Given the description of an element on the screen output the (x, y) to click on. 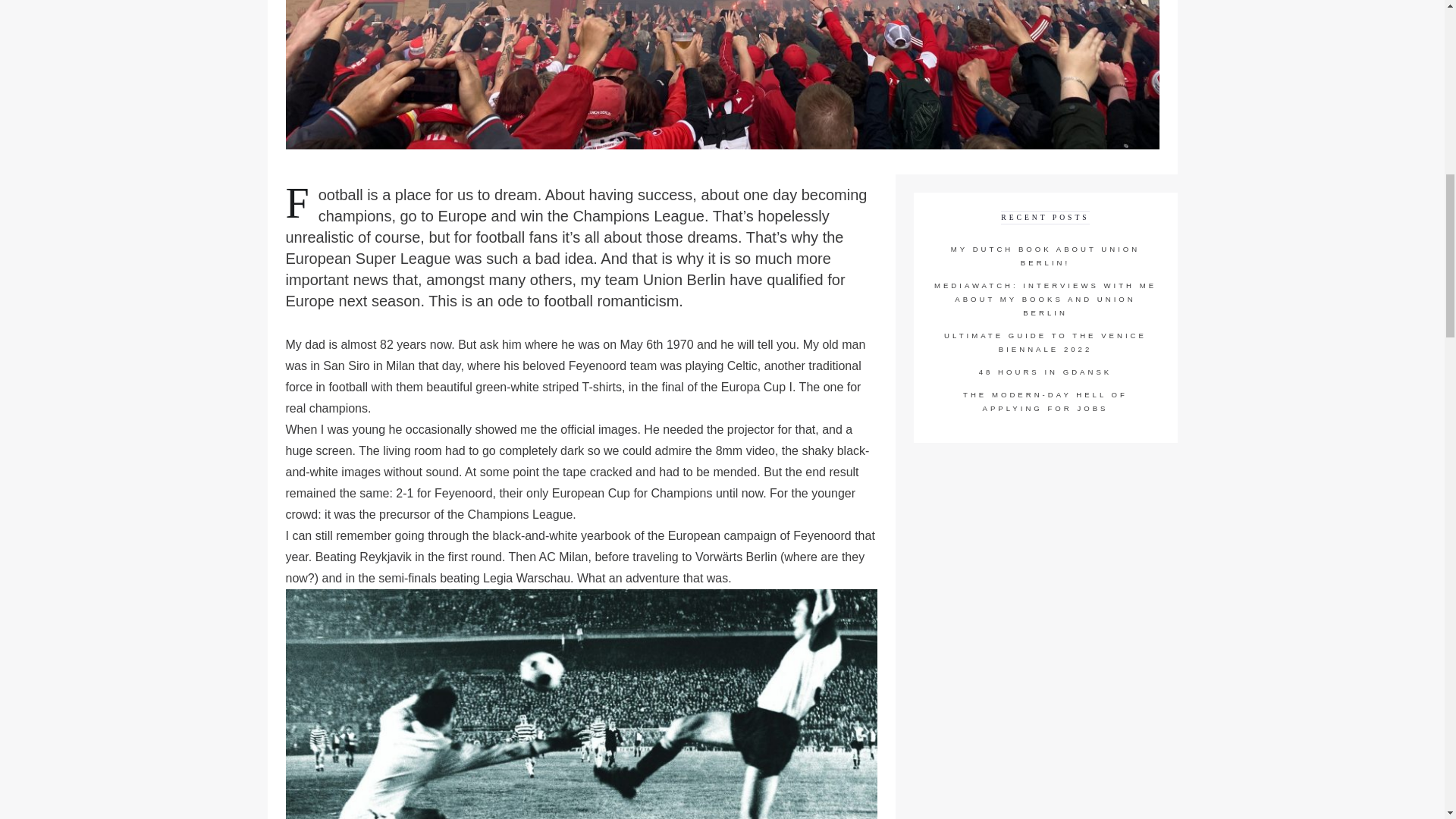
MY DUTCH BOOK ABOUT UNION BERLIN! (1045, 255)
